Given the description of an element on the screen output the (x, y) to click on. 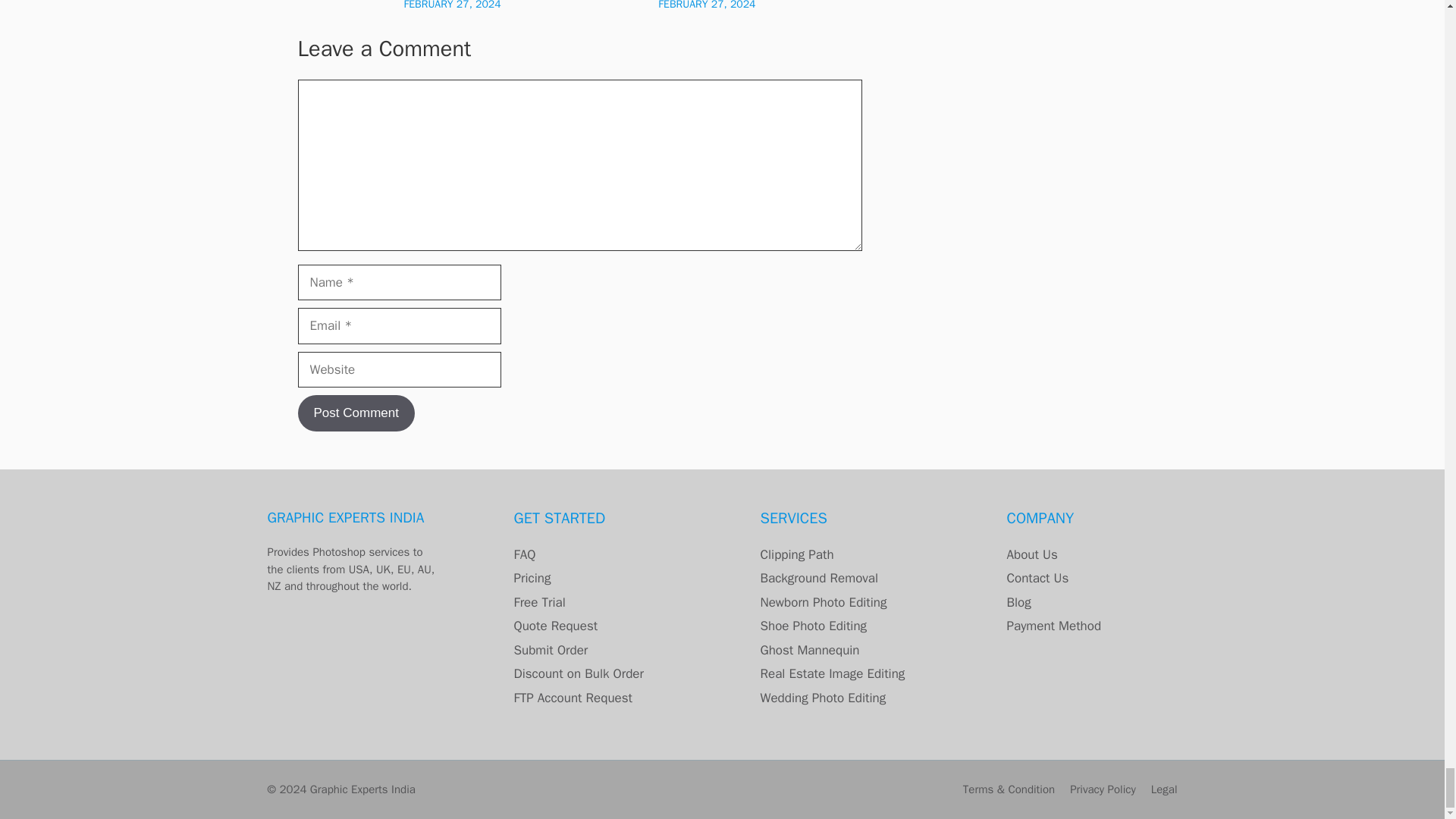
Post Comment (355, 412)
